Given the description of an element on the screen output the (x, y) to click on. 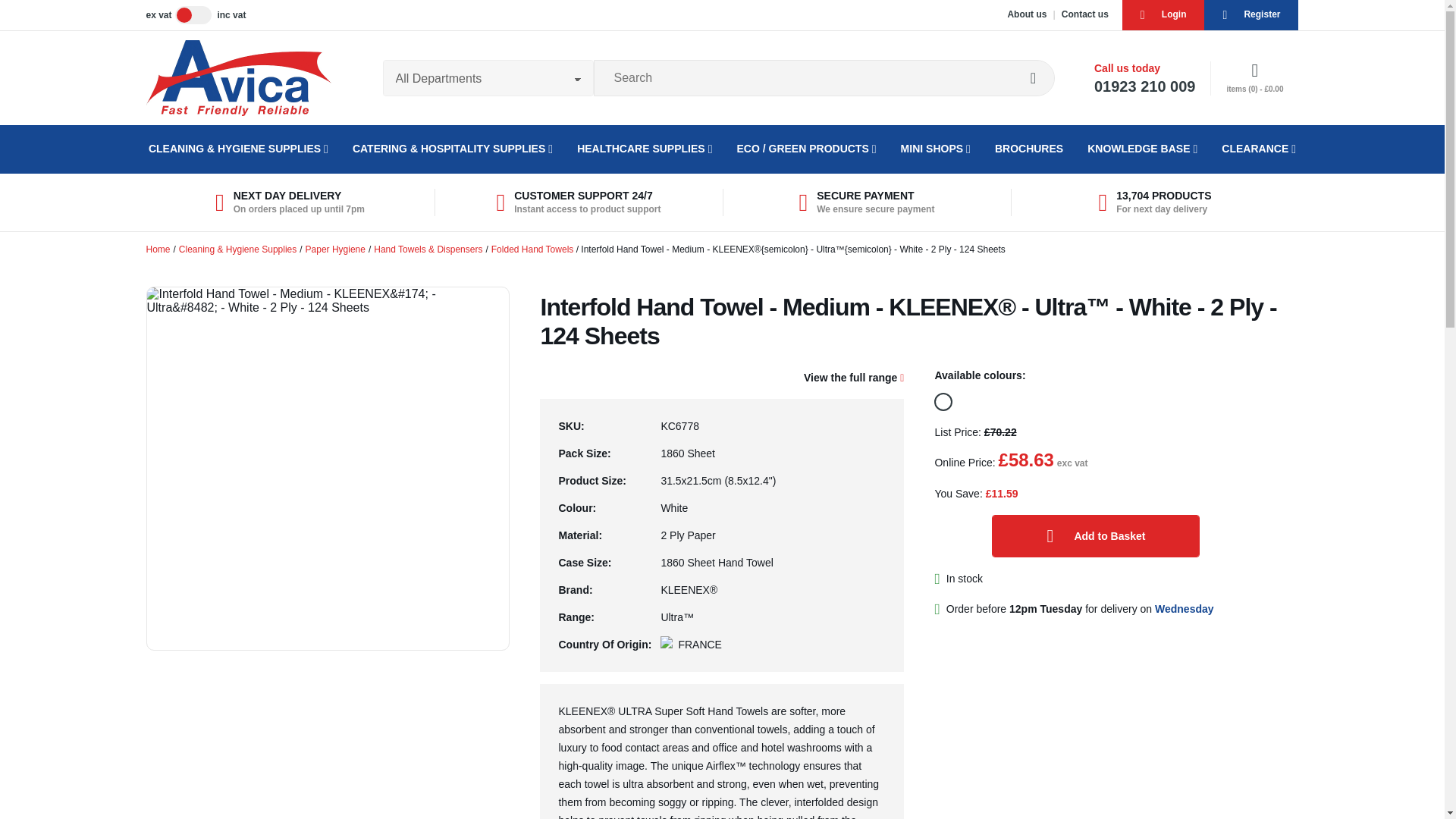
White (943, 402)
ex vat (158, 15)
HEALTHCARE SUPPLIES (643, 149)
01923 210 009 (1144, 86)
Go (1037, 77)
Register (1251, 15)
Login (1163, 15)
About us (1026, 14)
Contact us (1084, 14)
inc vat (231, 15)
